Given the description of an element on the screen output the (x, y) to click on. 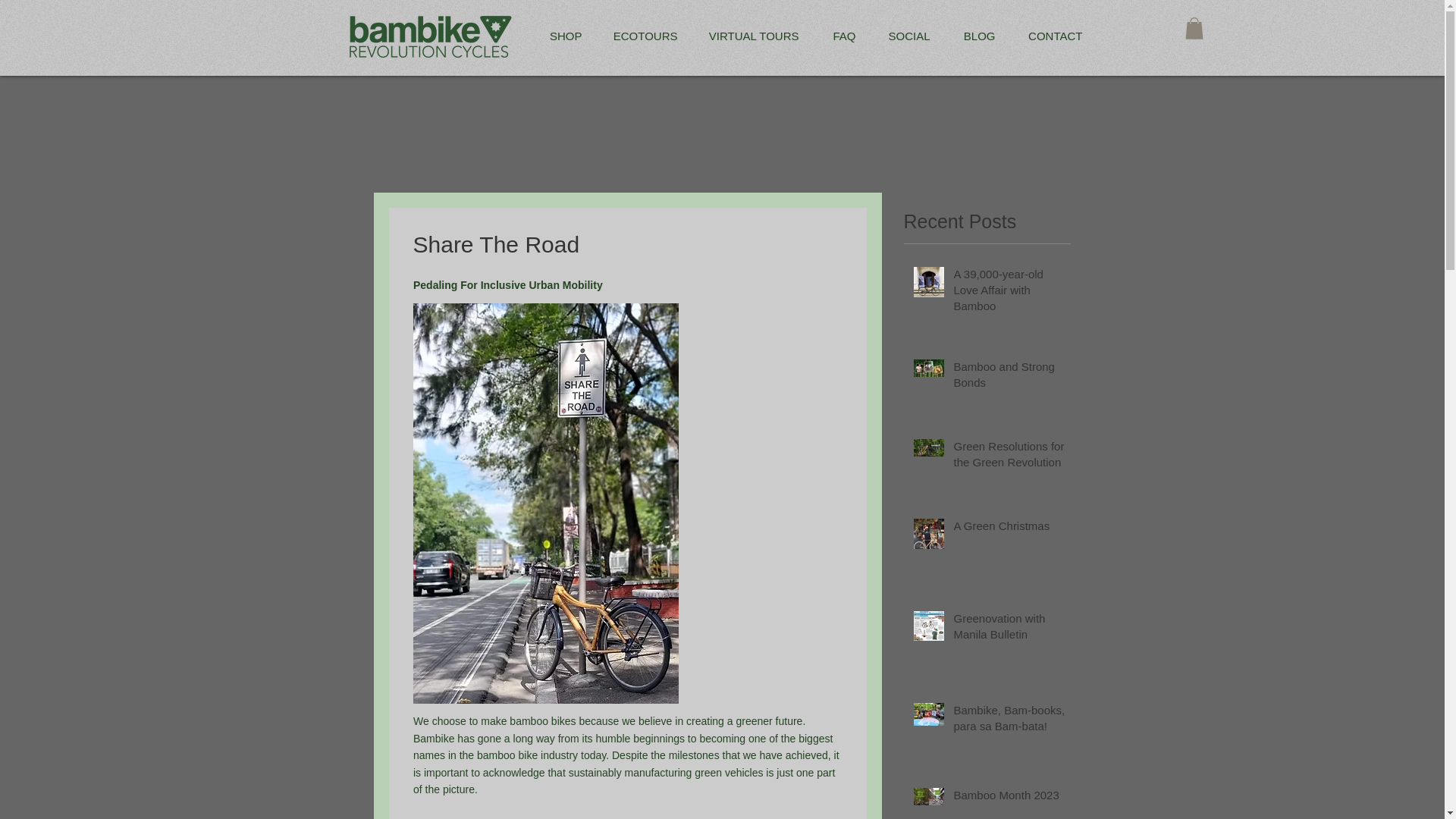
Green Resolutions for the Green Revolution (1009, 456)
FAQ (837, 35)
ECOTOURS (640, 35)
VIRTUAL TOURS (748, 35)
Bamboo and Strong Bonds (1009, 377)
SOCIAL (904, 35)
CONTACT (1050, 35)
Greenovation with Manila Bulletin (1009, 629)
BLOG (974, 35)
A Green Christmas (1009, 528)
A 39,000-year-old Love Affair with Bamboo (1009, 293)
SHOP (561, 35)
Bambike, Bam-books, para sa Bam-bata! (1009, 720)
Bamboo Month 2023 (1009, 798)
